Given the description of an element on the screen output the (x, y) to click on. 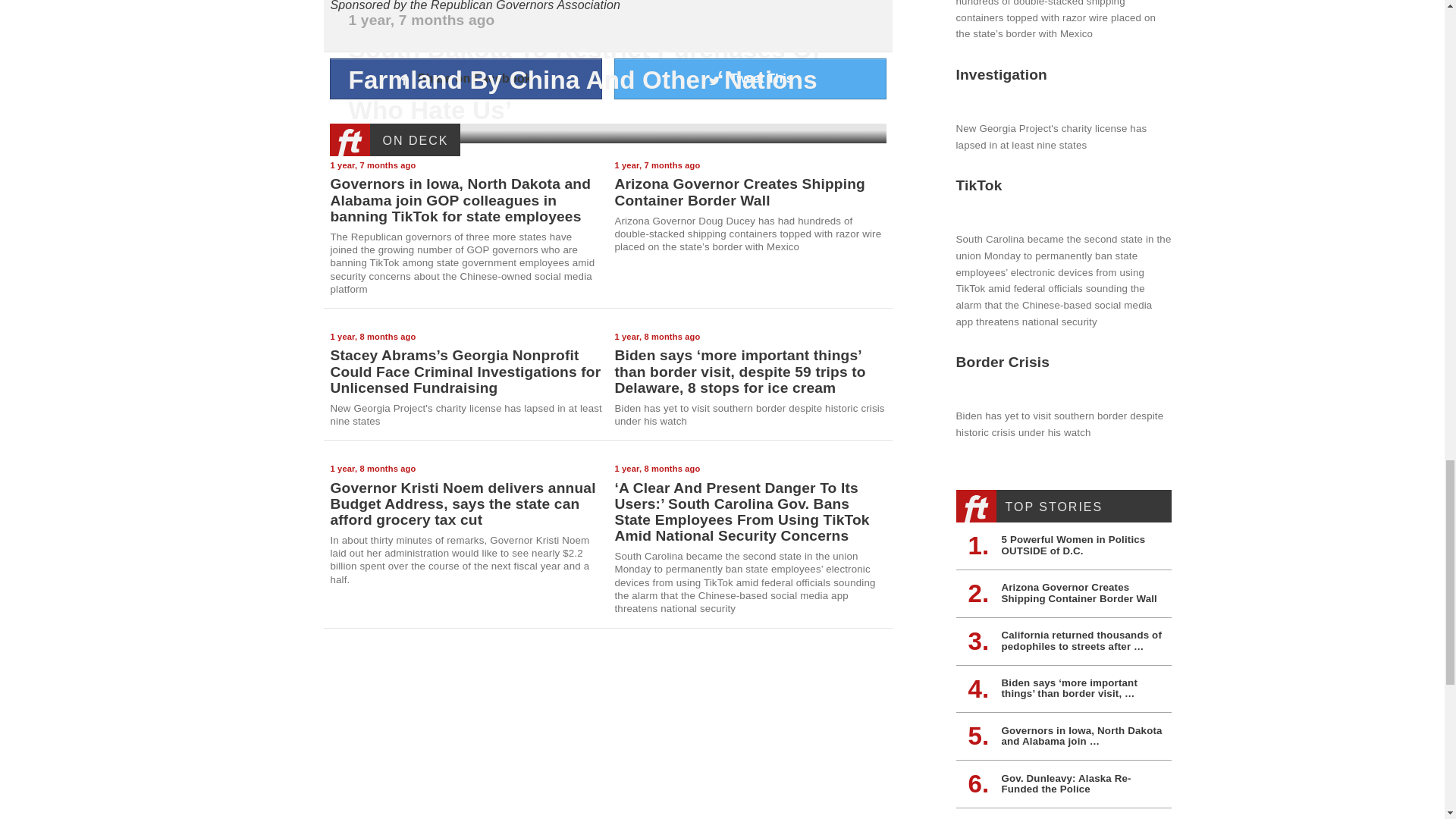
Tweet This (750, 78)
Share on Facebook (466, 78)
